Given the description of an element on the screen output the (x, y) to click on. 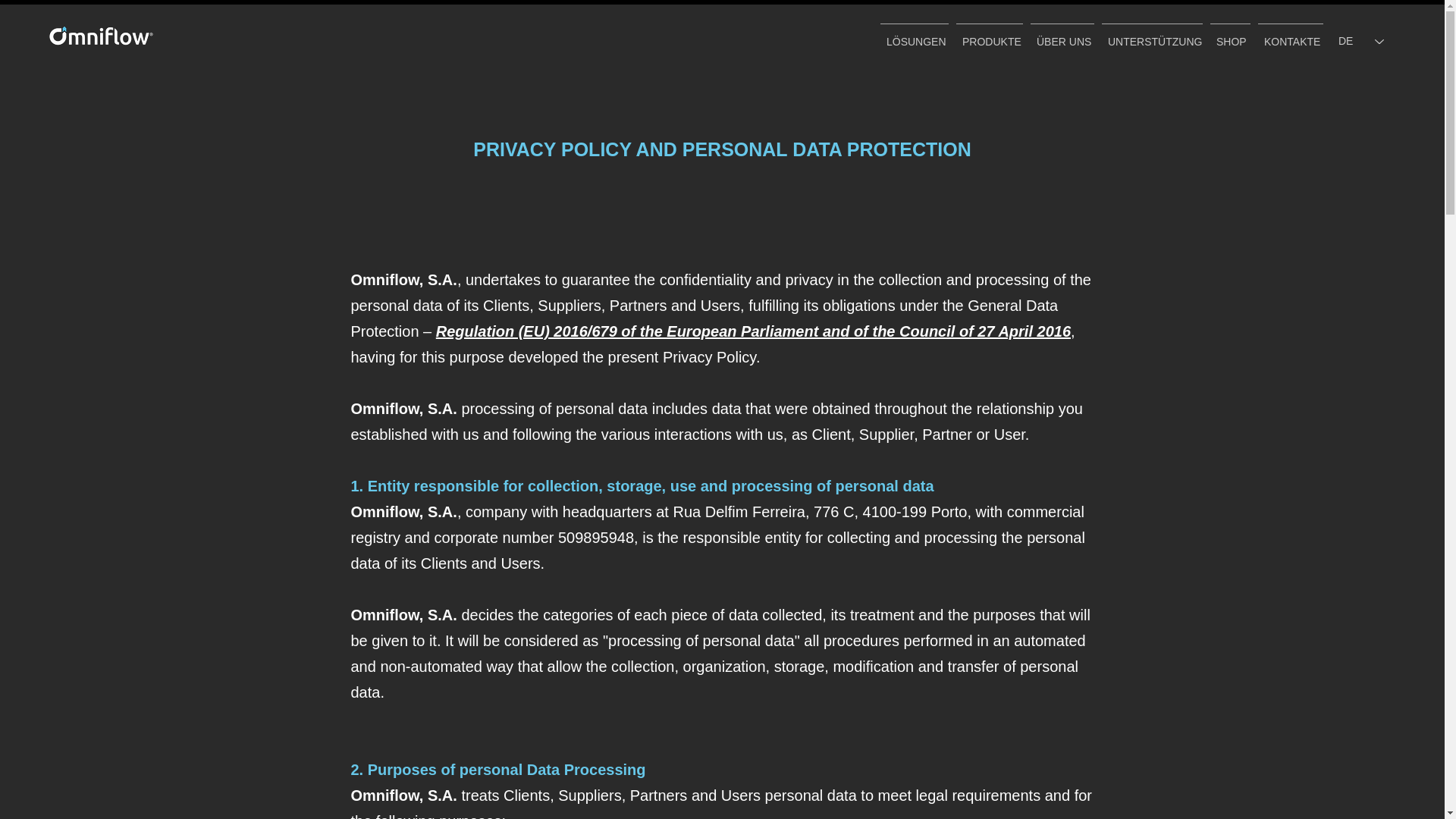
PRODUKTE (989, 34)
KONTAKTE (1289, 34)
SHOP (1230, 34)
